Given the description of an element on the screen output the (x, y) to click on. 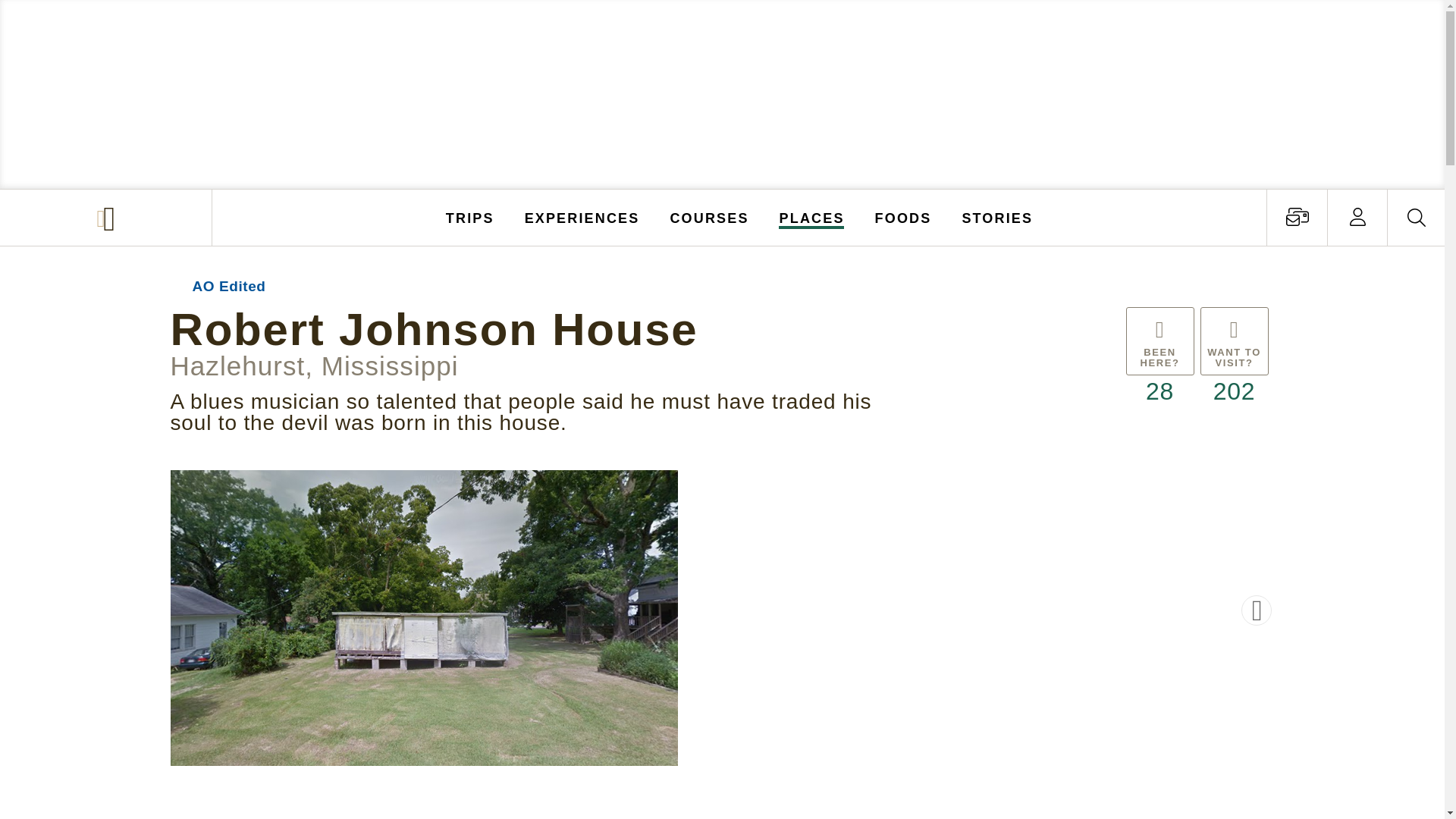
EXPERIENCES (582, 217)
PLACES (812, 217)
COURSES (707, 217)
TRIPS (469, 217)
